Given the description of an element on the screen output the (x, y) to click on. 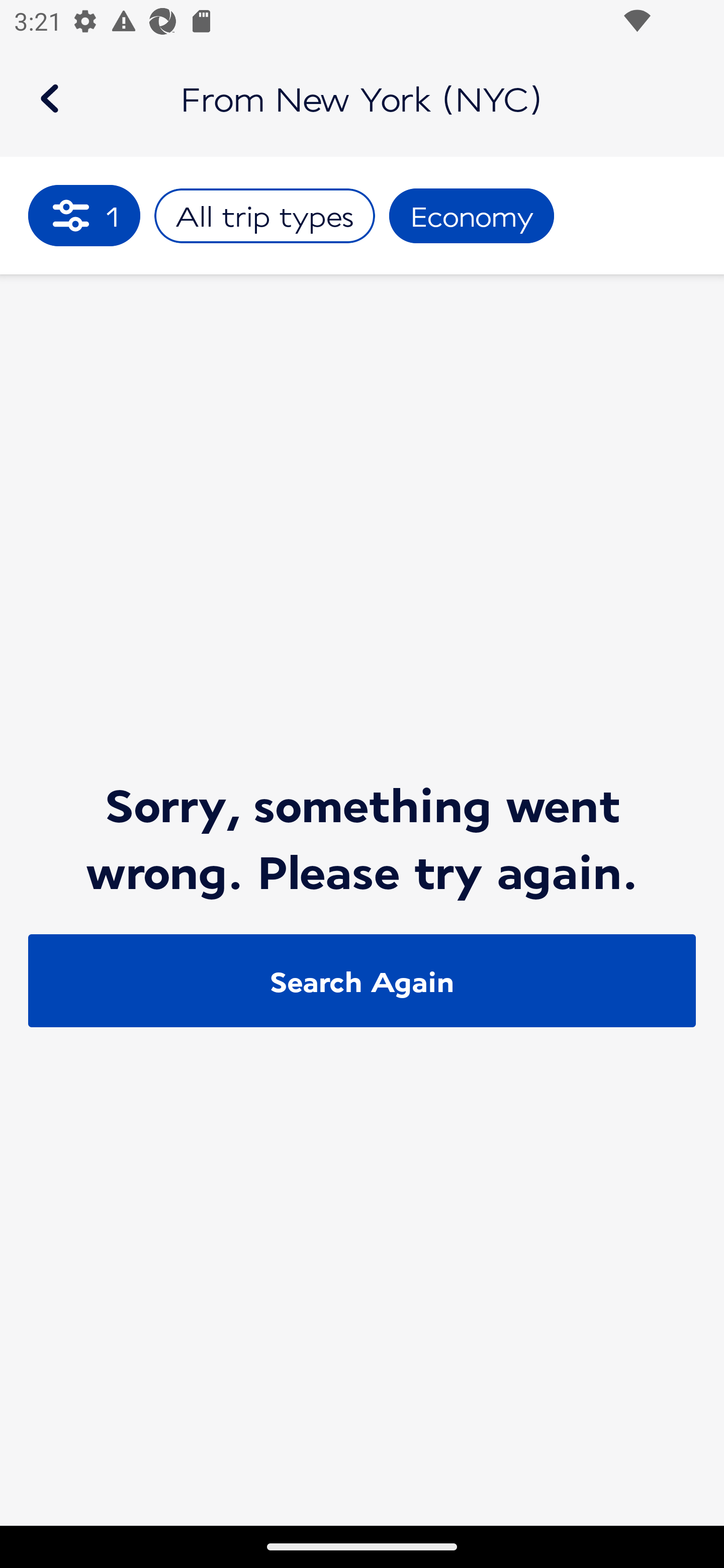
leading 1 (84, 215)
All trip types (264, 216)
Economy (471, 216)
Search Again (361, 980)
